Given the description of an element on the screen output the (x, y) to click on. 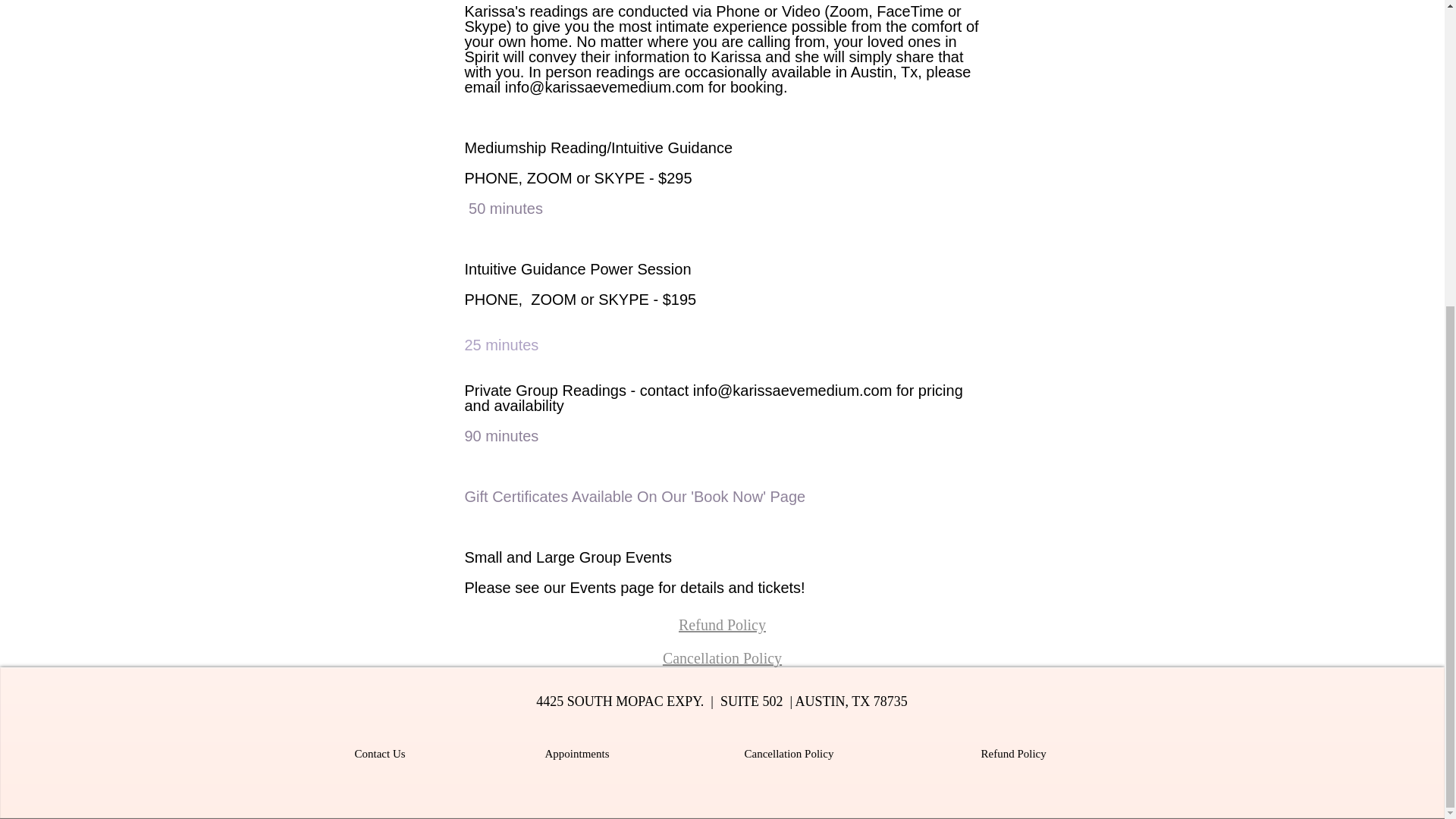
Cancellation Policy (789, 753)
Appointments (576, 753)
Refund Policy (721, 624)
Contact Us (380, 753)
Refund Policy (1013, 753)
Cancellation Policy (721, 658)
